Given the description of an element on the screen output the (x, y) to click on. 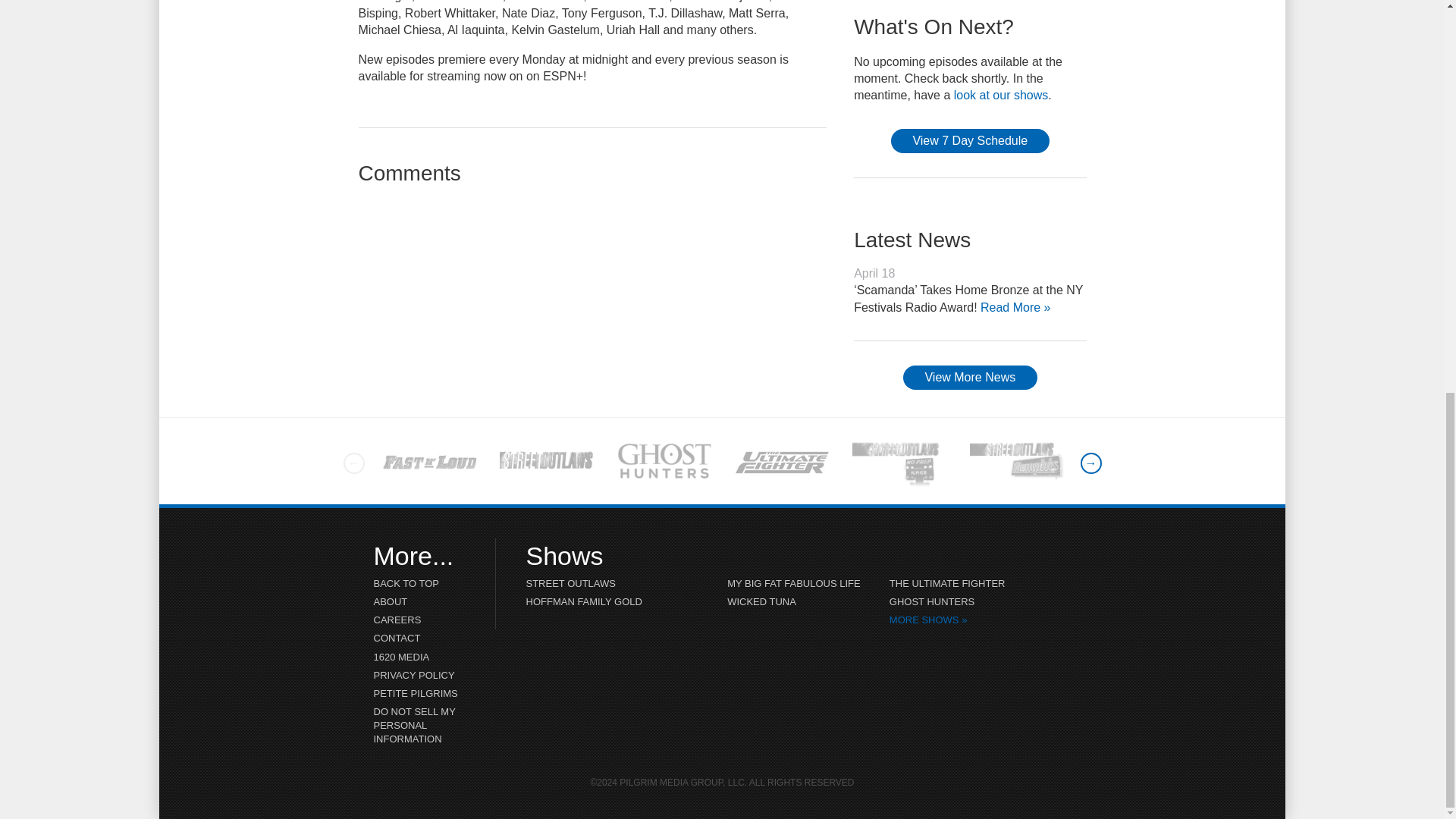
BACK TO TOP (418, 583)
More Shows (980, 619)
View More News (969, 377)
View More News (969, 377)
View 7 Day Schedule (970, 140)
ABOUT (418, 601)
CAREERS (418, 619)
View our shows (1000, 94)
PRIVACY POLICY (418, 675)
1620 MEDIA (418, 657)
View 7 Day Schedule (970, 140)
look at our shows (1000, 94)
PETITE PILGRIMS (418, 693)
CONTACT (418, 638)
